Given the description of an element on the screen output the (x, y) to click on. 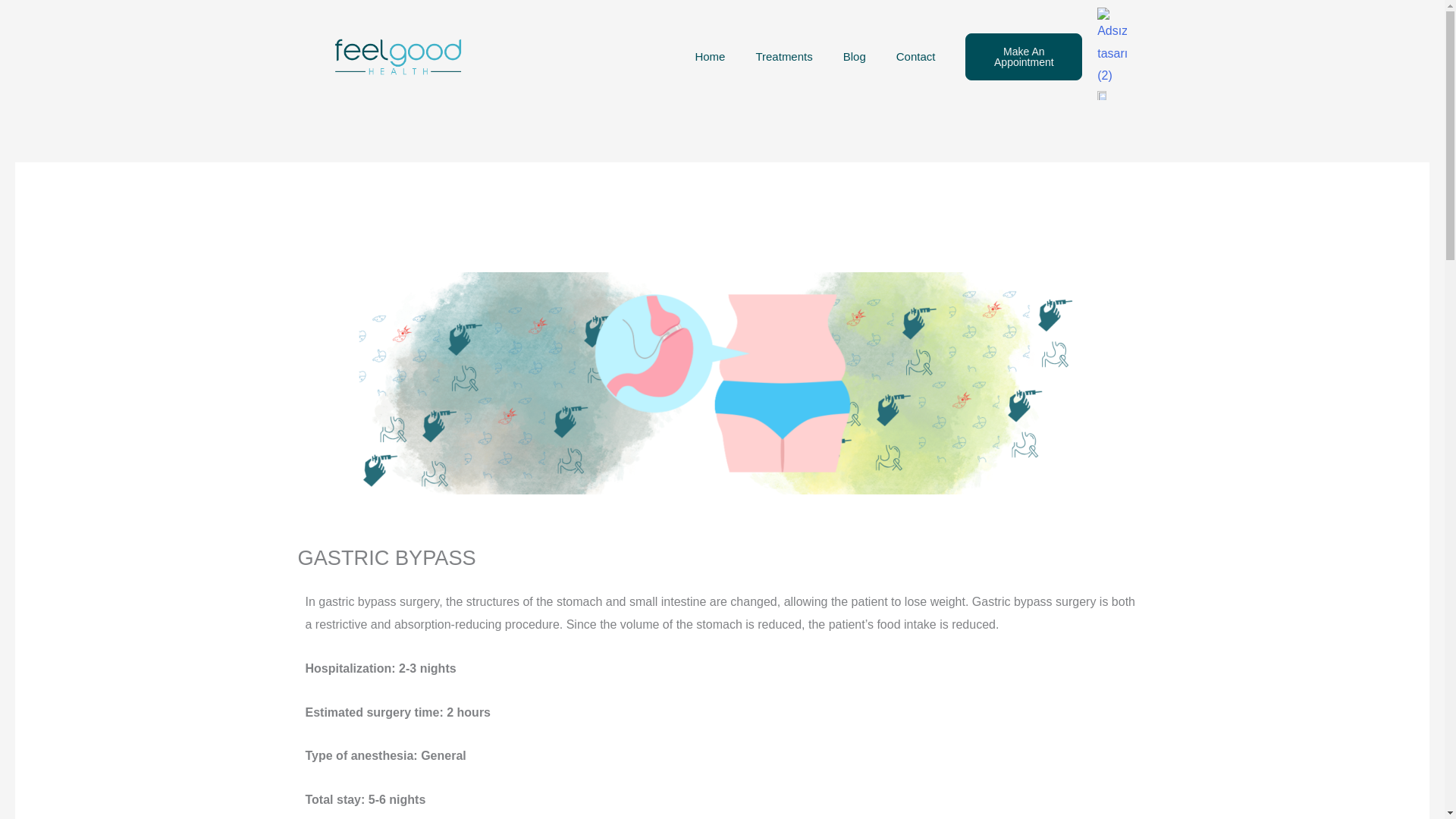
Blog (854, 56)
Home (709, 56)
Treatments (783, 56)
Contact (915, 56)
